Given the description of an element on the screen output the (x, y) to click on. 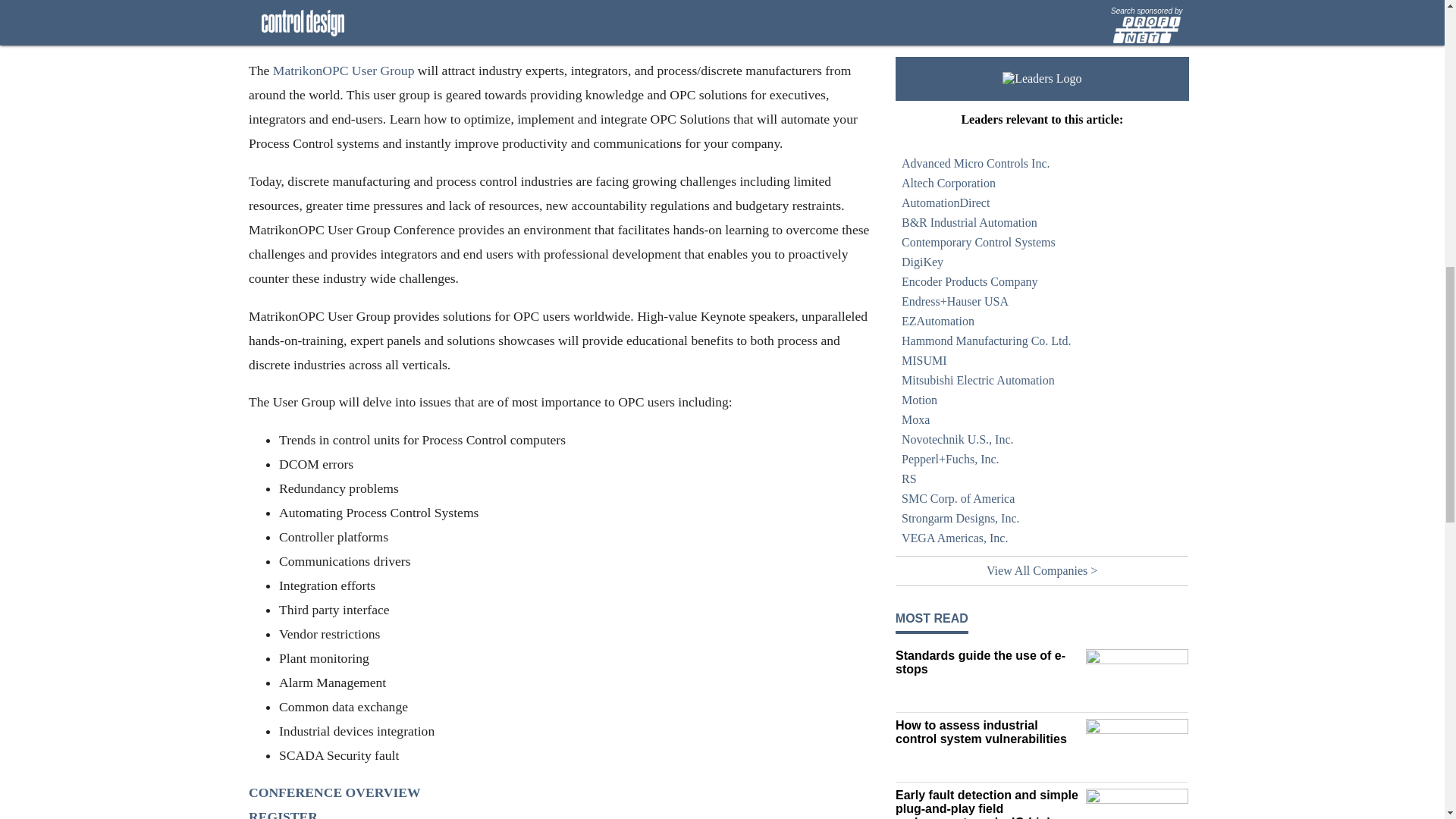
AutomationDirect (1042, 202)
UAO favors IEC 61499 over IEC 61131 (986, 9)
REGISTER (282, 814)
Advanced Micro Controls Inc. (1042, 163)
MatrikonOPC User Group (342, 70)
CONFERENCE OVERVIEW (334, 792)
Altech Corporation (1042, 183)
